Given the description of an element on the screen output the (x, y) to click on. 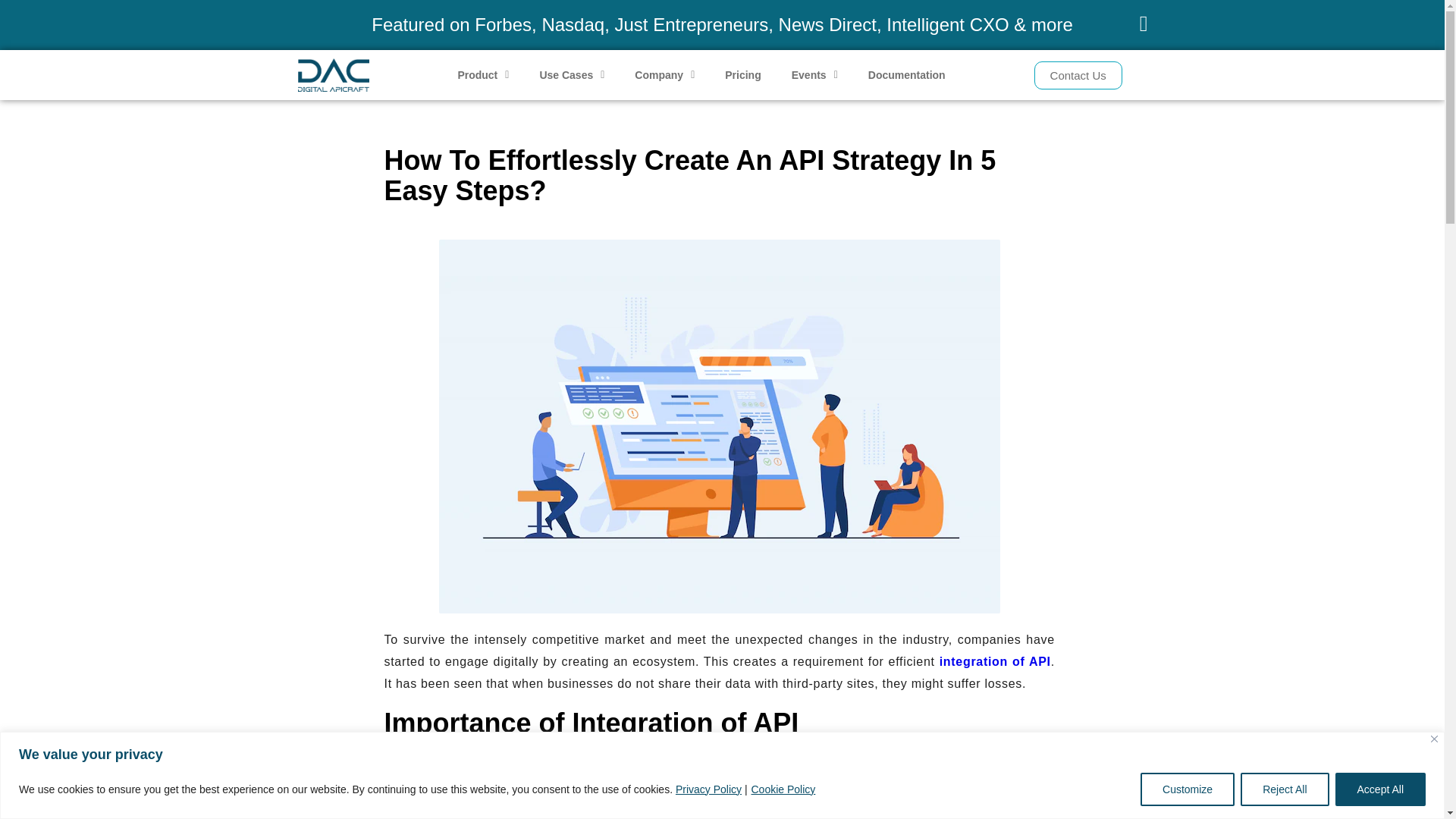
Product (483, 74)
News Direct (827, 24)
Just Entrepreneurs, (693, 24)
Use Cases (572, 74)
Reject All (1283, 788)
Privacy Policy (708, 788)
Company (665, 74)
Nasdaq (572, 24)
Customize (1187, 788)
Accept All (1380, 788)
Cookie Policy (782, 789)
Intelligent CXO (947, 24)
Forbes (502, 24)
